Given the description of an element on the screen output the (x, y) to click on. 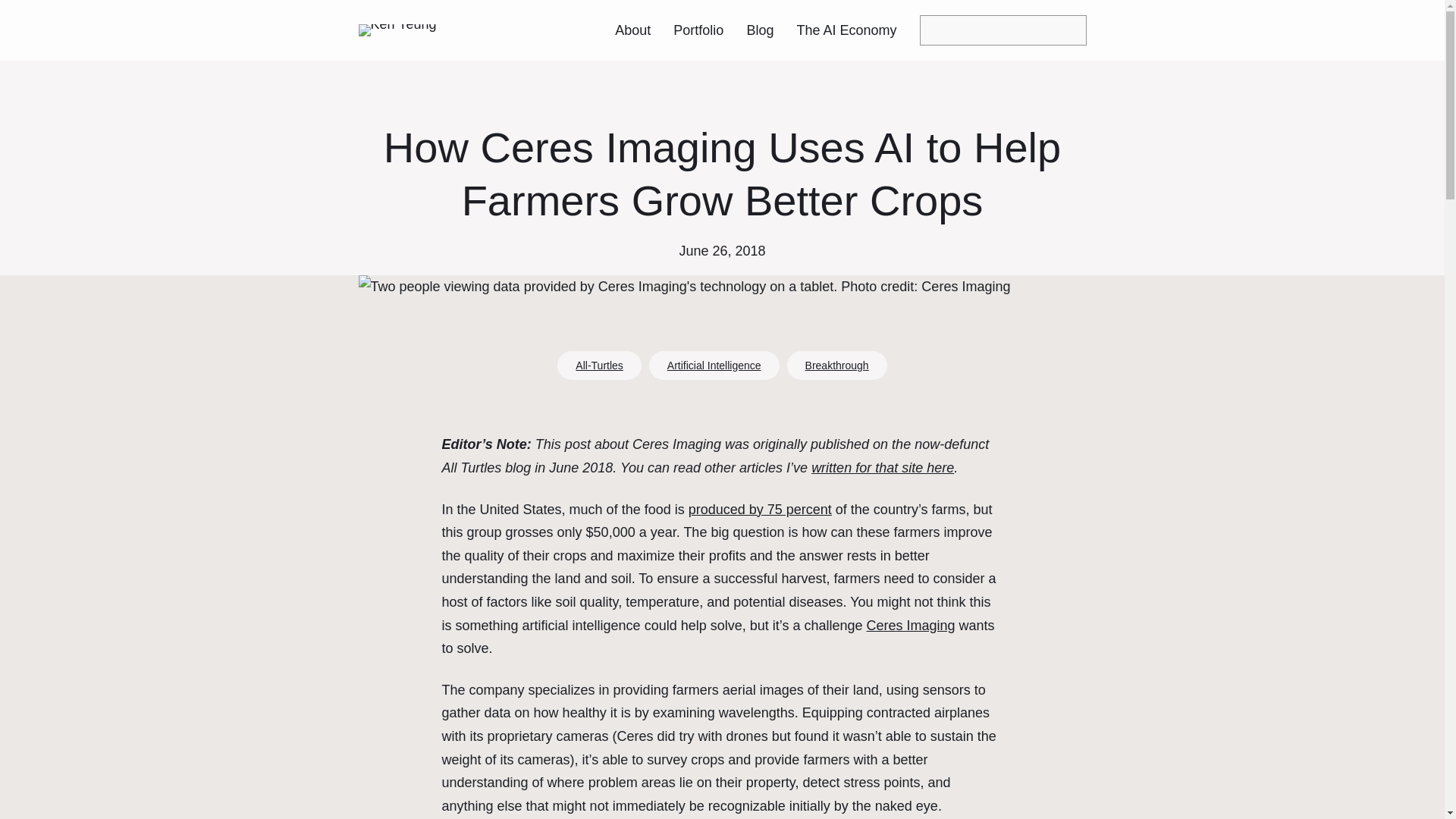
About (632, 30)
written for that site here (881, 467)
Ceres Imaging (910, 625)
The AI Economy (846, 30)
produced by 75 percent (759, 509)
All-Turtles (599, 365)
Breakthrough (836, 365)
Blog (759, 30)
Portfolio (697, 30)
Artificial Intelligence (713, 365)
